Given the description of an element on the screen output the (x, y) to click on. 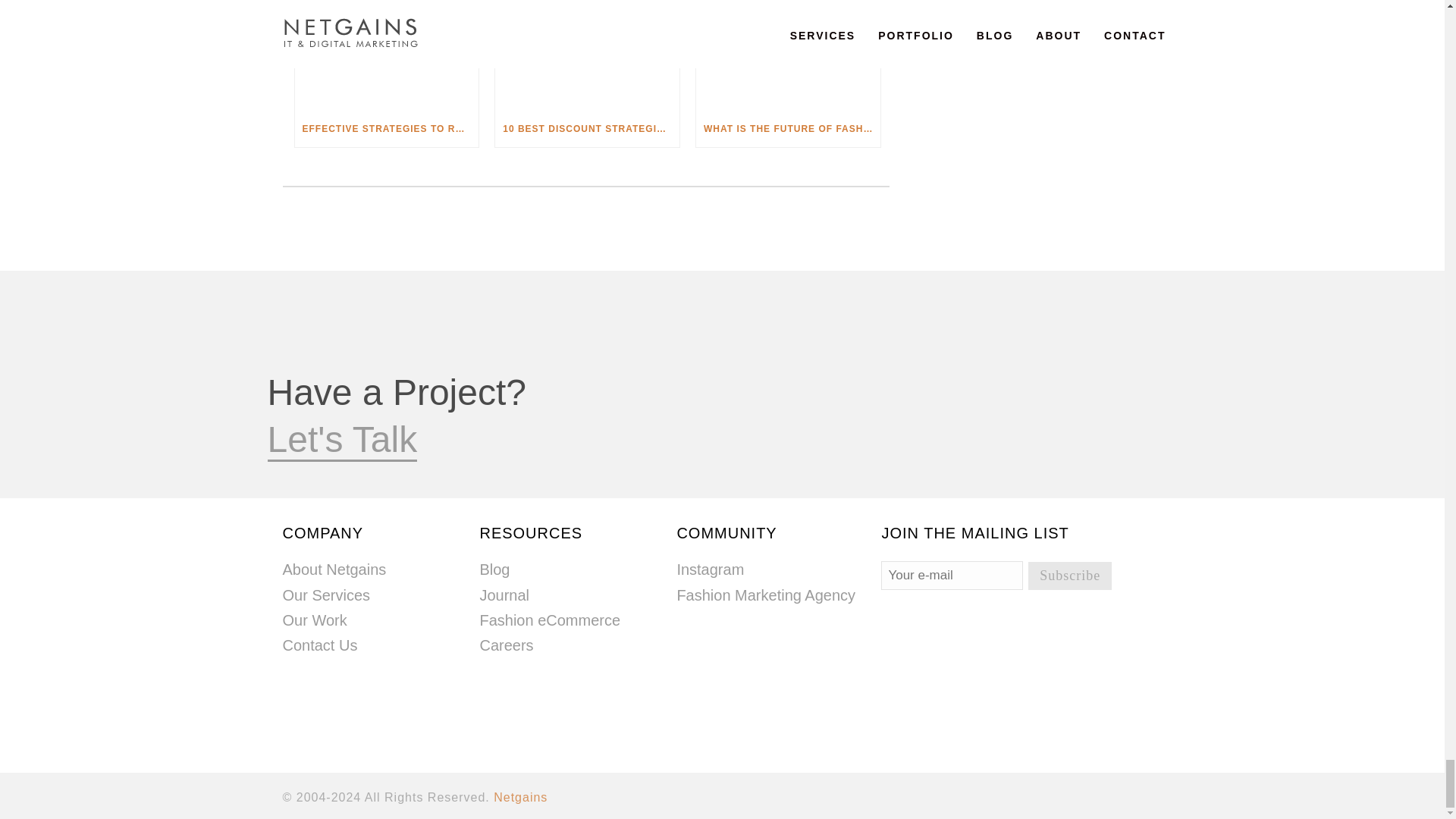
Effective Strategies to Reduce Shopping Cart Abandonment (386, 55)
Subscribe (1069, 575)
What is the Future of Fashion Sourcing? (787, 55)
10 Best Discount Strategies for Fashion E-commerce Retailers (587, 55)
